Given the description of an element on the screen output the (x, y) to click on. 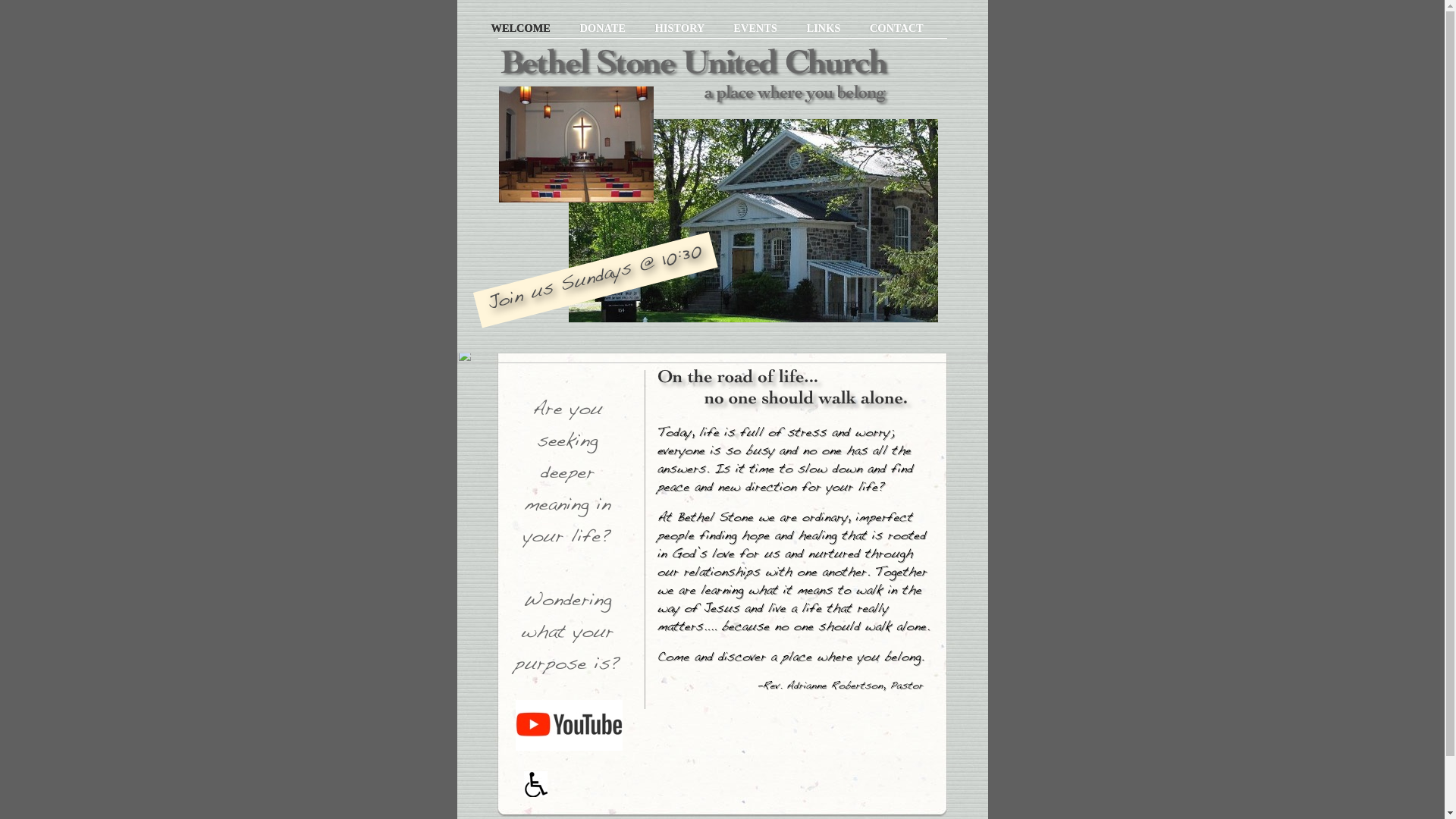
LINKS Element type: text (824, 27)
HISTORY Element type: text (681, 27)
EVENTS Element type: text (756, 27)
CONTACT Element type: text (896, 27)
DONATE Element type: text (603, 27)
https://www.youtube.com/channel/UCg22I2zKgs8gYWYCLoP9URw Element type: hover (568, 749)
WELCOME Element type: text (522, 27)
